Given the description of an element on the screen output the (x, y) to click on. 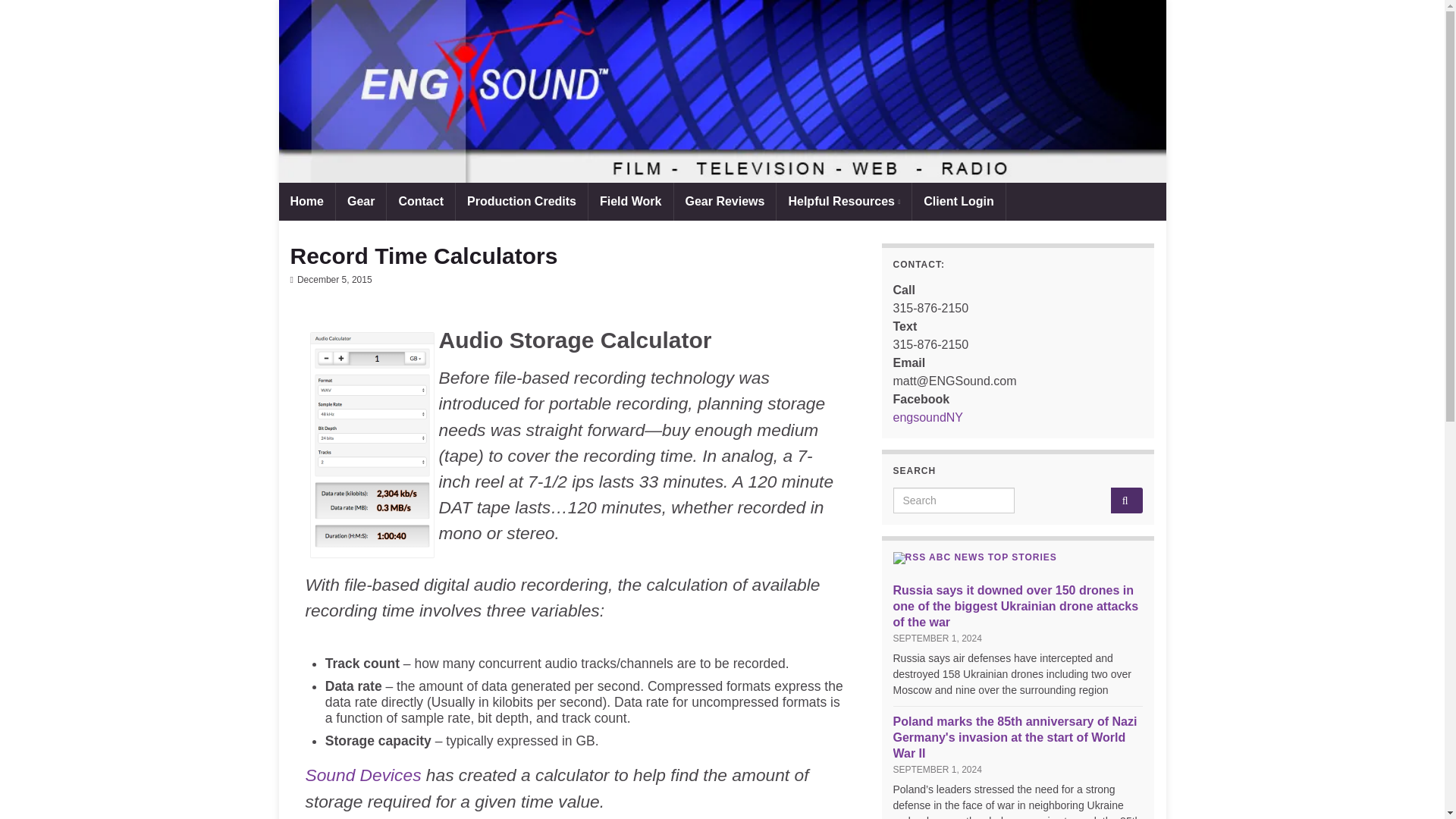
Client Login (958, 201)
Helpful Resources (843, 201)
Production Credits (521, 201)
Gear (360, 201)
Home (306, 201)
Field Work (630, 201)
Contact (420, 201)
Sound Devices (362, 774)
